Given the description of an element on the screen output the (x, y) to click on. 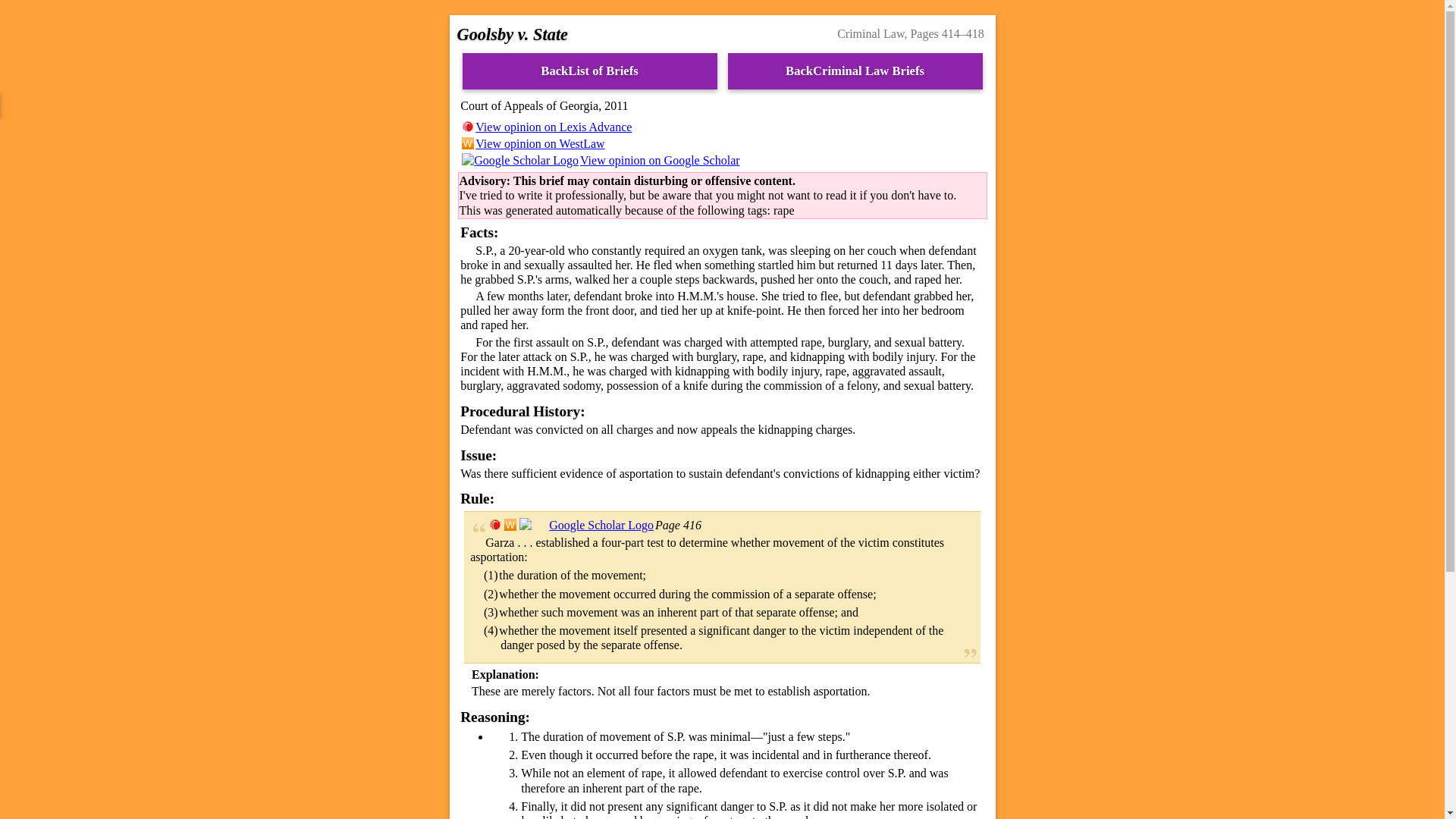
View page 653 on Google Scholar (586, 524)
View opinion on Google Scholar (599, 160)
View opinion on Lexis Advance (545, 126)
BackCriminal Law Briefs (855, 71)
View opinion on WestLaw (532, 143)
BackList of Briefs (590, 71)
View headnote 2 on WestLaw (510, 524)
View headnote 3 on Lexis Advance (494, 524)
